Given the description of an element on the screen output the (x, y) to click on. 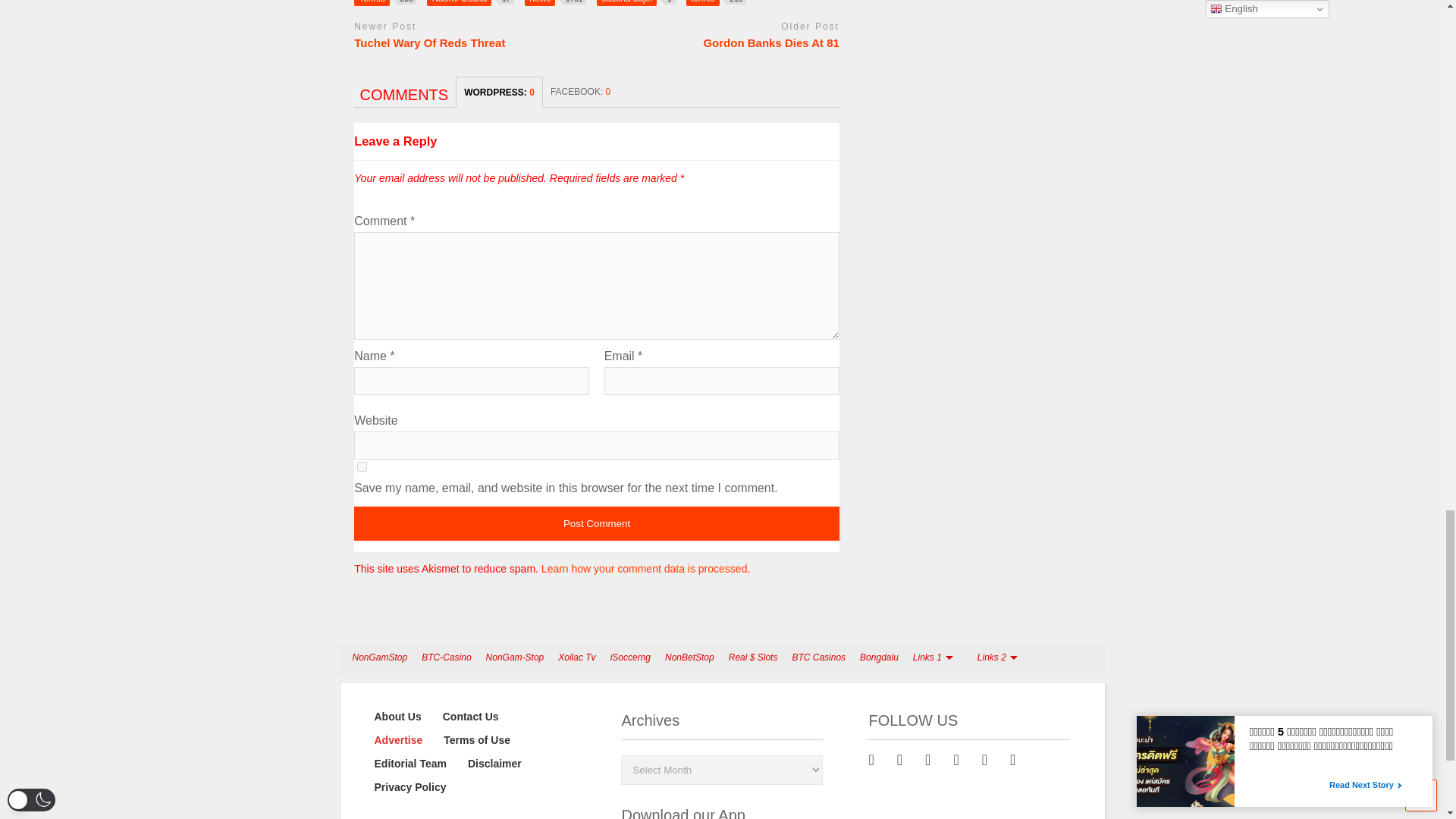
yes (361, 466)
Post Comment (596, 523)
